Given the description of an element on the screen output the (x, y) to click on. 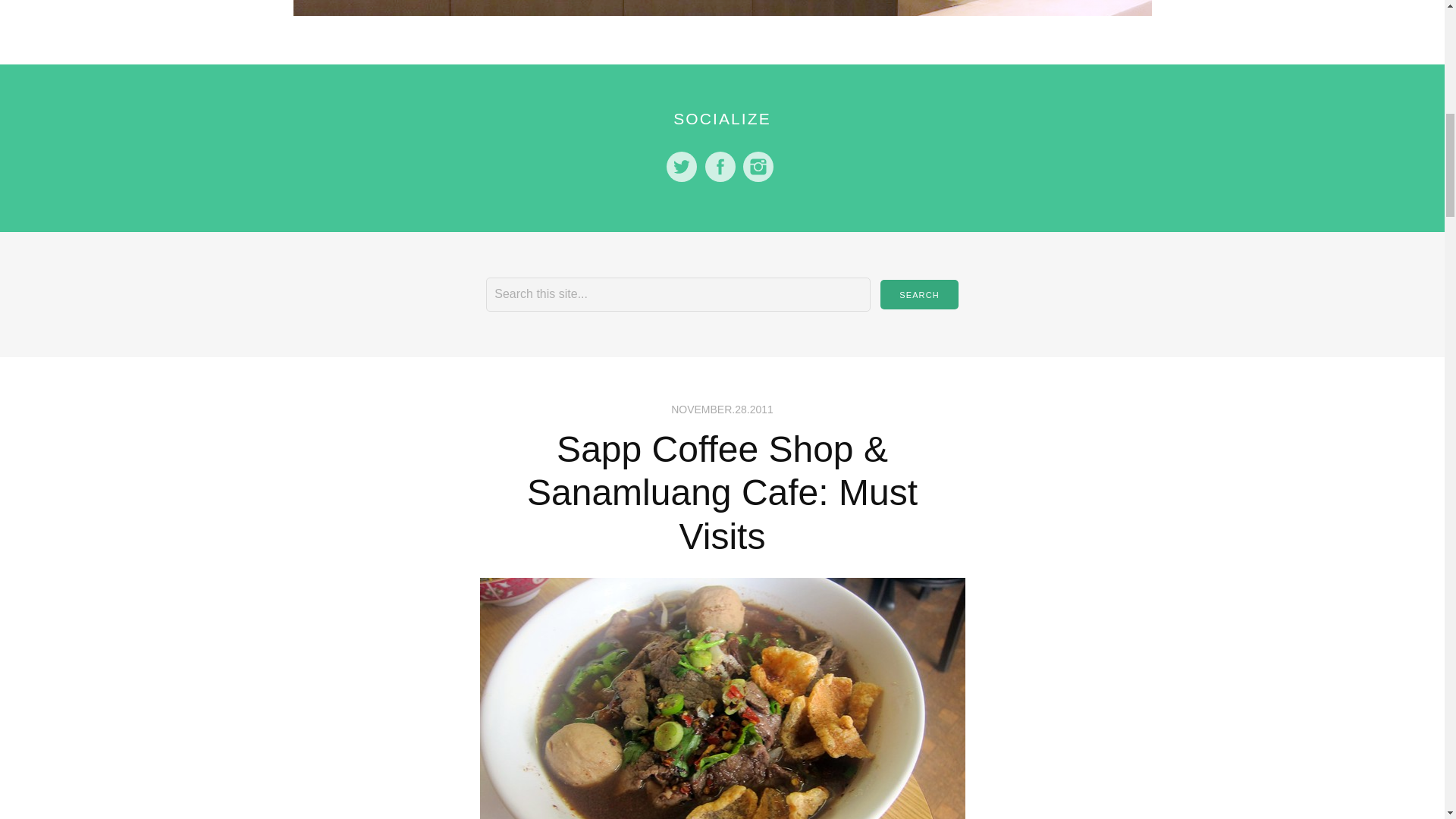
Search (919, 294)
Facebook (719, 166)
Instagram (757, 166)
Facebook (719, 166)
NOVEMBER.28.2011 (722, 409)
Twitter (681, 166)
Instagram (757, 166)
Twitter (681, 166)
Search (919, 294)
